Given the description of an element on the screen output the (x, y) to click on. 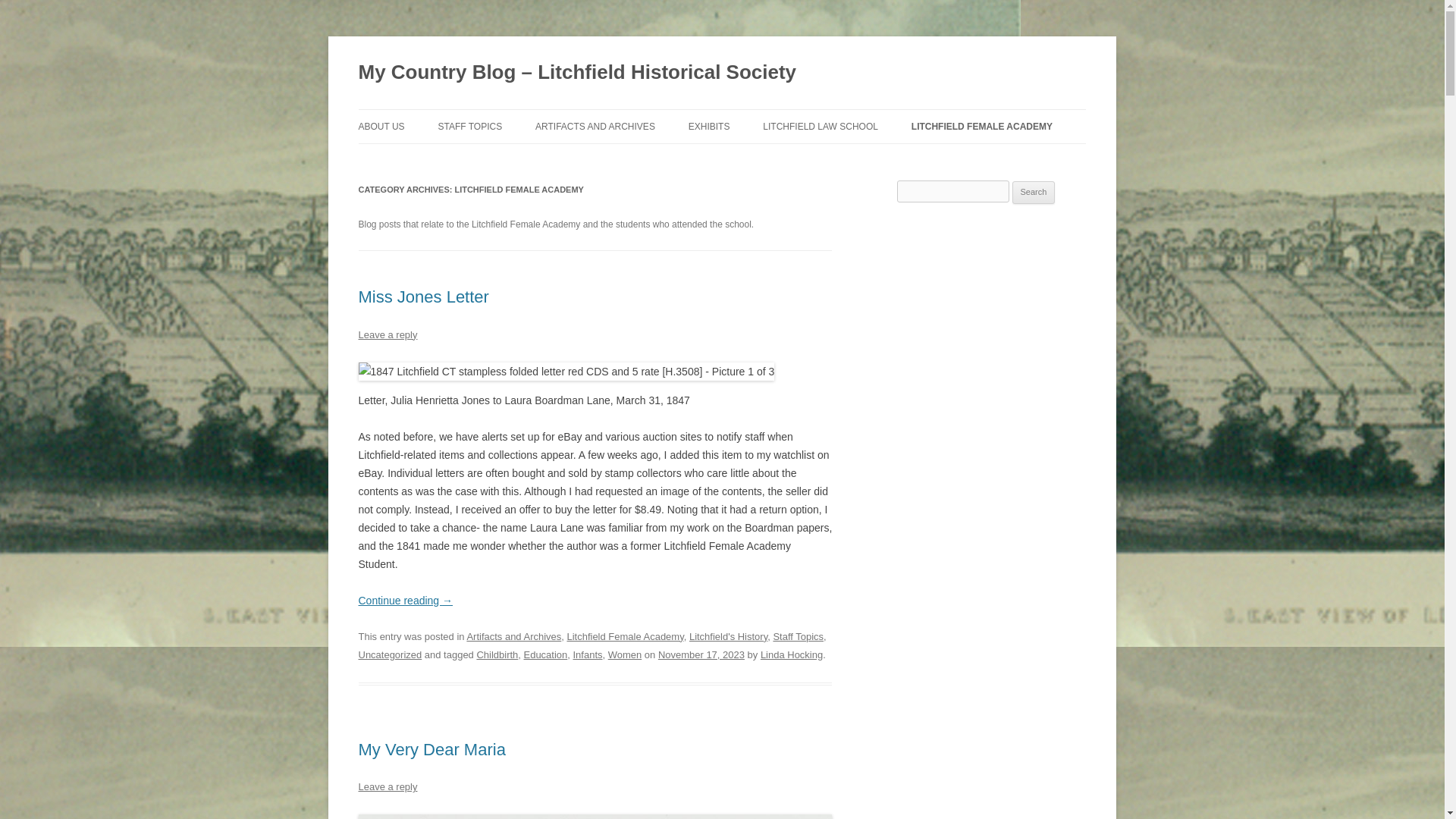
Litchfield Female Academy (624, 636)
EXHIBITS (709, 126)
Artifacts and Archives (512, 636)
My Very Dear Maria (431, 749)
Staff Topics (798, 636)
Education (545, 654)
ABOUT US (381, 126)
Search (1033, 191)
Leave a reply (387, 786)
LITCHFIELD FEMALE ACADEMY (981, 126)
Litchfield's History (727, 636)
Childbirth (497, 654)
LITCHFIELD LAW SCHOOL (819, 126)
Women (625, 654)
Linda Hocking (791, 654)
